Given the description of an element on the screen output the (x, y) to click on. 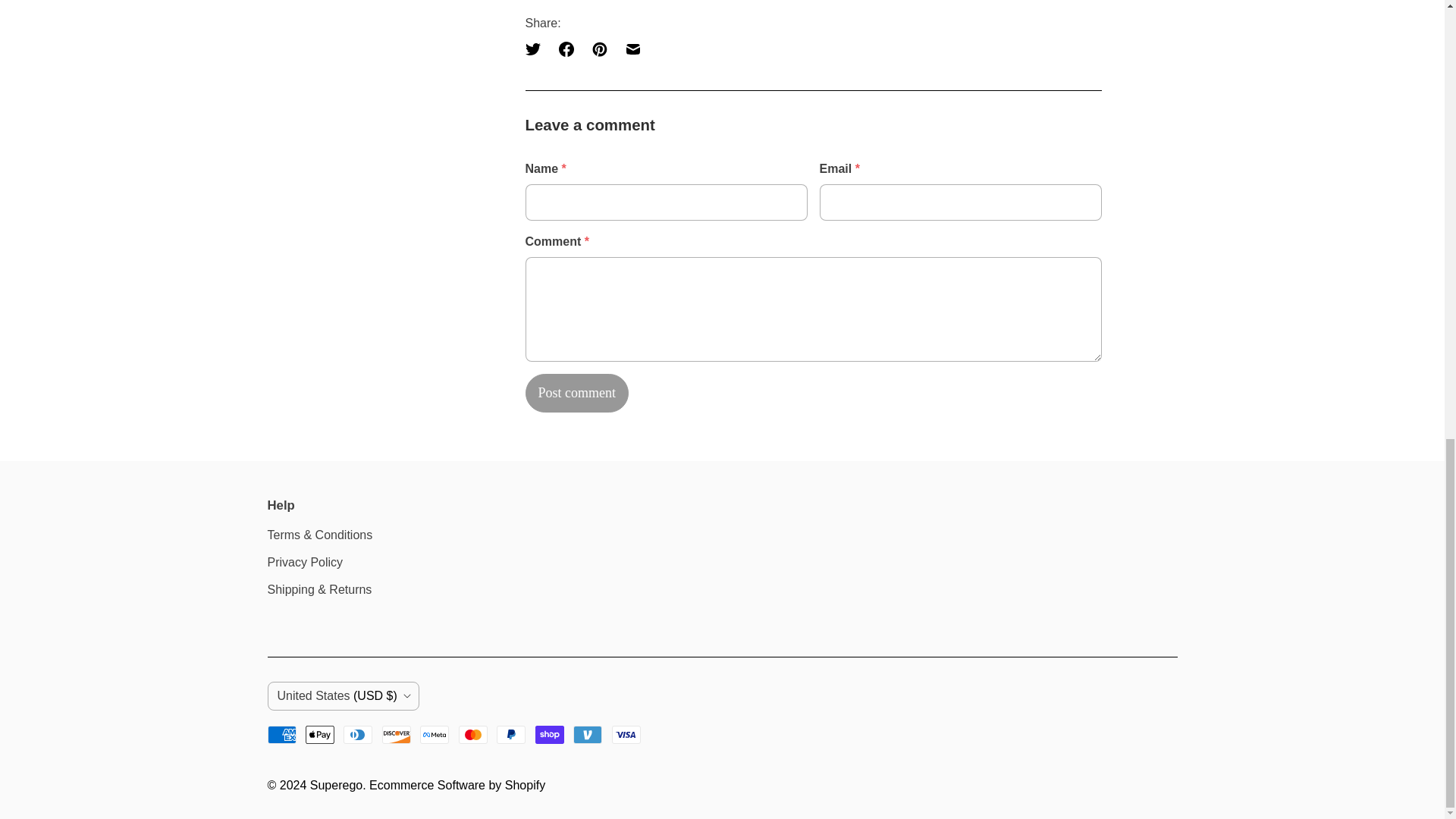
Meta Pay (434, 734)
Post comment (576, 392)
Mastercard (472, 734)
Diners Club (357, 734)
Shop Pay (549, 734)
Share this on Facebook (565, 49)
American Express (280, 734)
Visa (625, 734)
Apple Pay (319, 734)
Email this to a friend (632, 49)
